Given the description of an element on the screen output the (x, y) to click on. 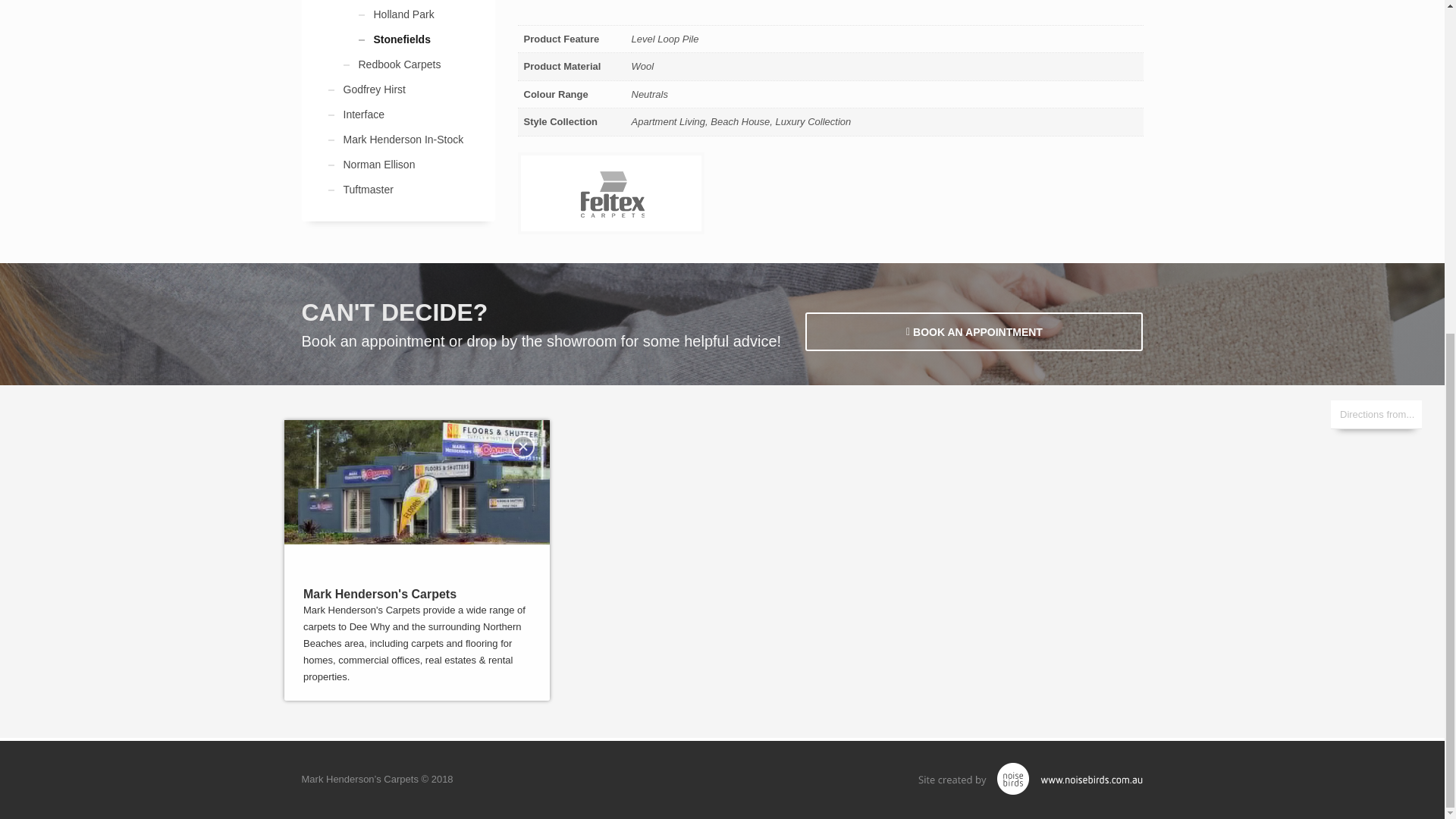
Noise Birds (1029, 778)
